Given the description of an element on the screen output the (x, y) to click on. 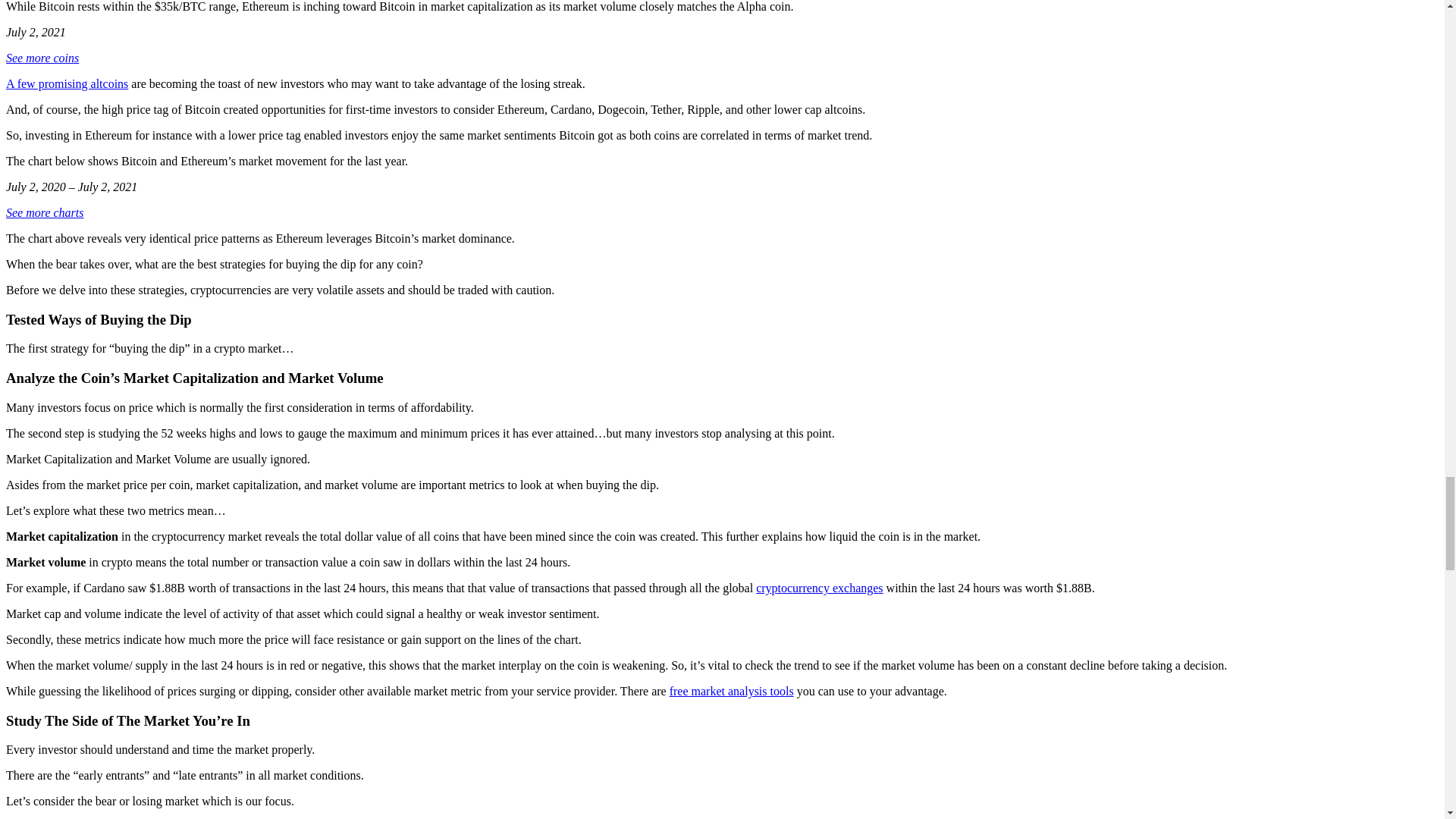
cryptocurrency exchanges (818, 587)
A few promising altcoins (66, 83)
See more coins (41, 57)
See more charts (44, 212)
free market analysis tools (731, 690)
